Given the description of an element on the screen output the (x, y) to click on. 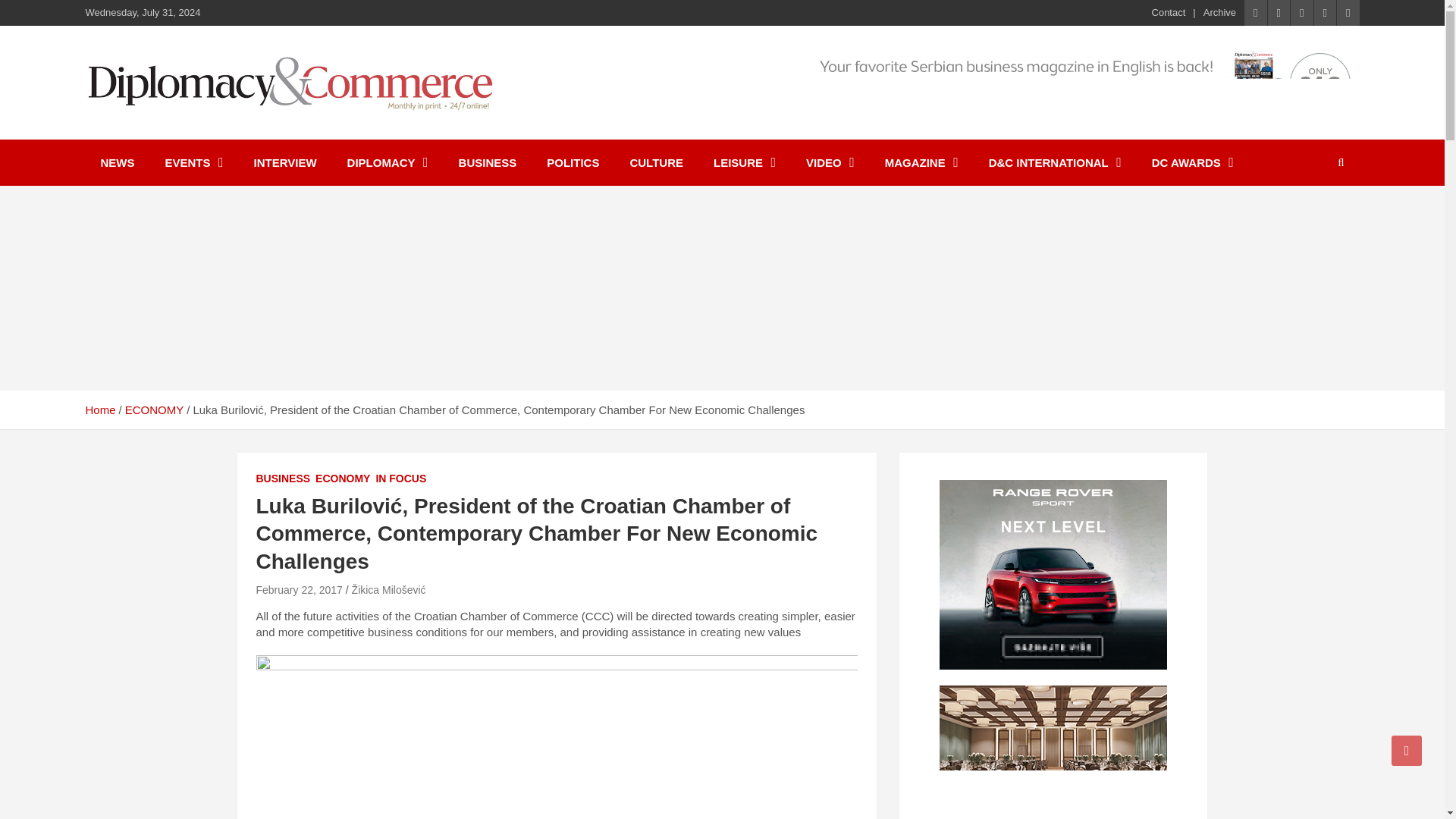
LEISURE (744, 162)
MAGAZINE (921, 162)
VIDEO (829, 162)
POLITICS (572, 162)
Archive (1220, 12)
Contact (1168, 12)
CULTURE (656, 162)
NEWS (116, 162)
INTERVIEW (284, 162)
BUSINESS (488, 162)
EVENTS (193, 162)
DIPLOMACY (387, 162)
